Given the description of an element on the screen output the (x, y) to click on. 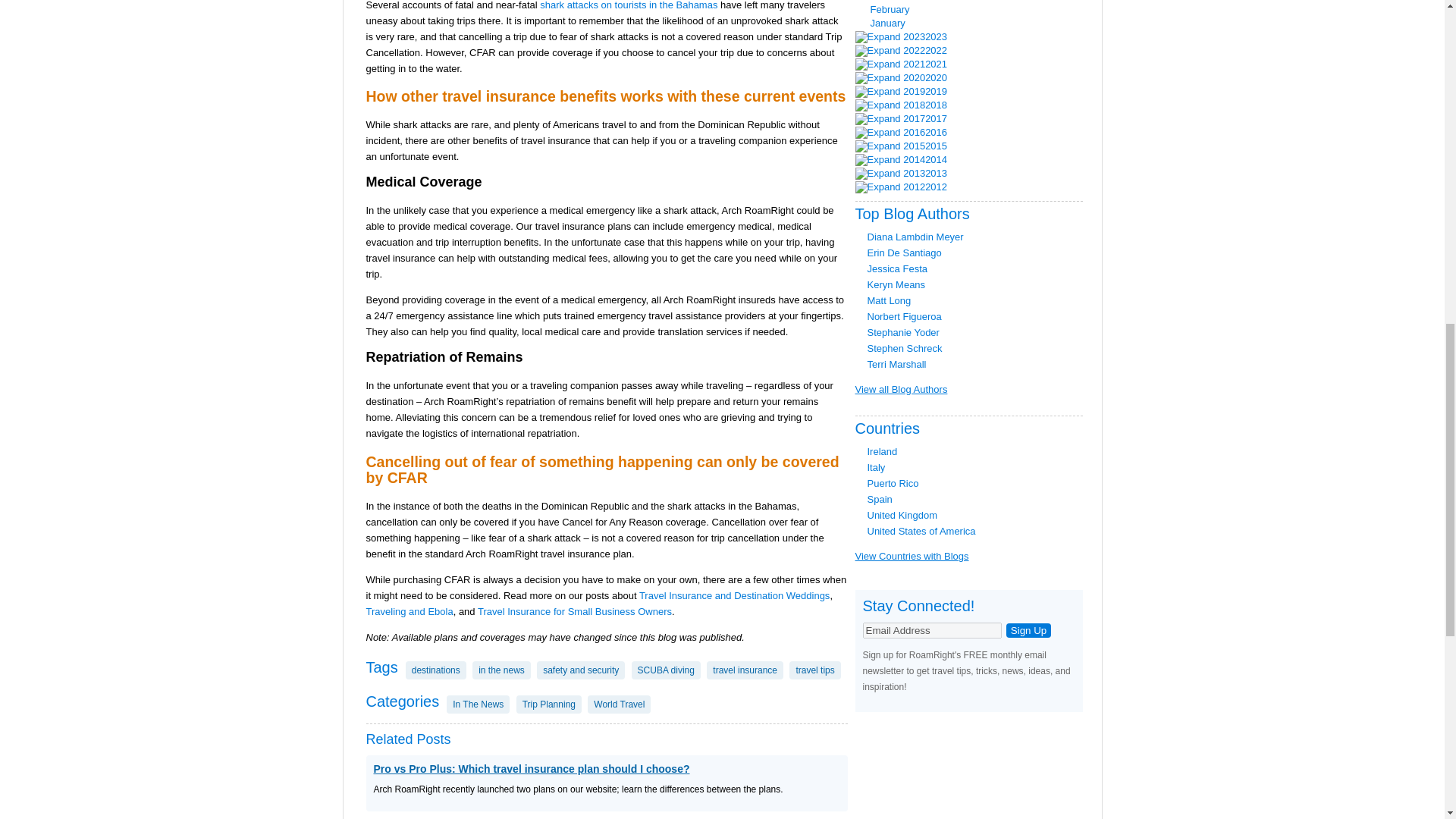
travel tips (814, 669)
Expand 2023 (891, 37)
shark attacks on tourists in the Bahamas (628, 5)
Trip Planning (548, 704)
Traveling and Ebola (408, 611)
Email Address (932, 630)
travel insurance (744, 669)
safety and security (580, 669)
Traveling and Ebola (408, 611)
